Given the description of an element on the screen output the (x, y) to click on. 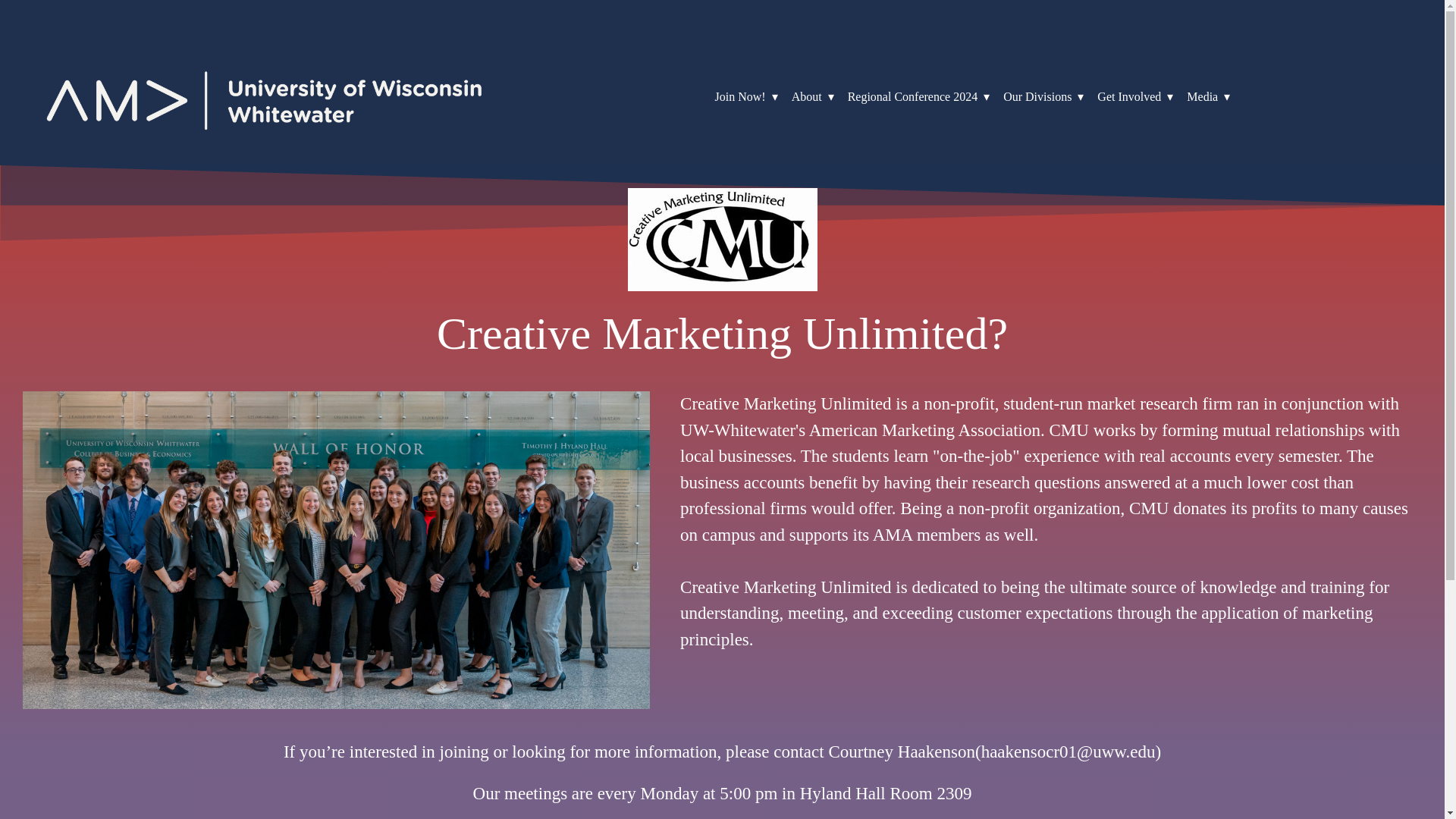
About (813, 96)
Get Involved (1135, 96)
Our Divisions (1043, 96)
Regional Conference 2024 (918, 96)
Join Now! (745, 96)
